Given the description of an element on the screen output the (x, y) to click on. 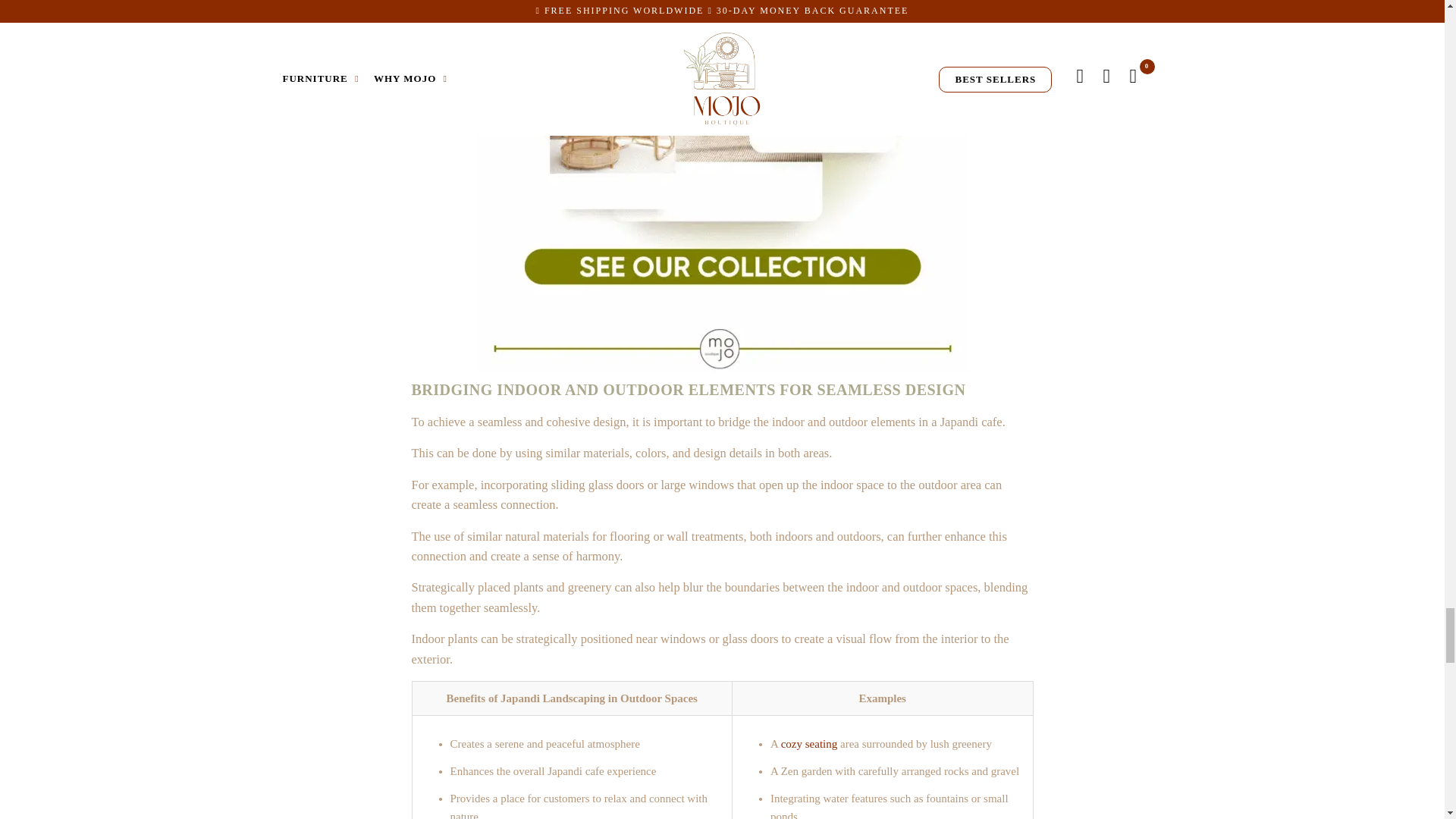
all handmade products (722, 369)
